Given the description of an element on the screen output the (x, y) to click on. 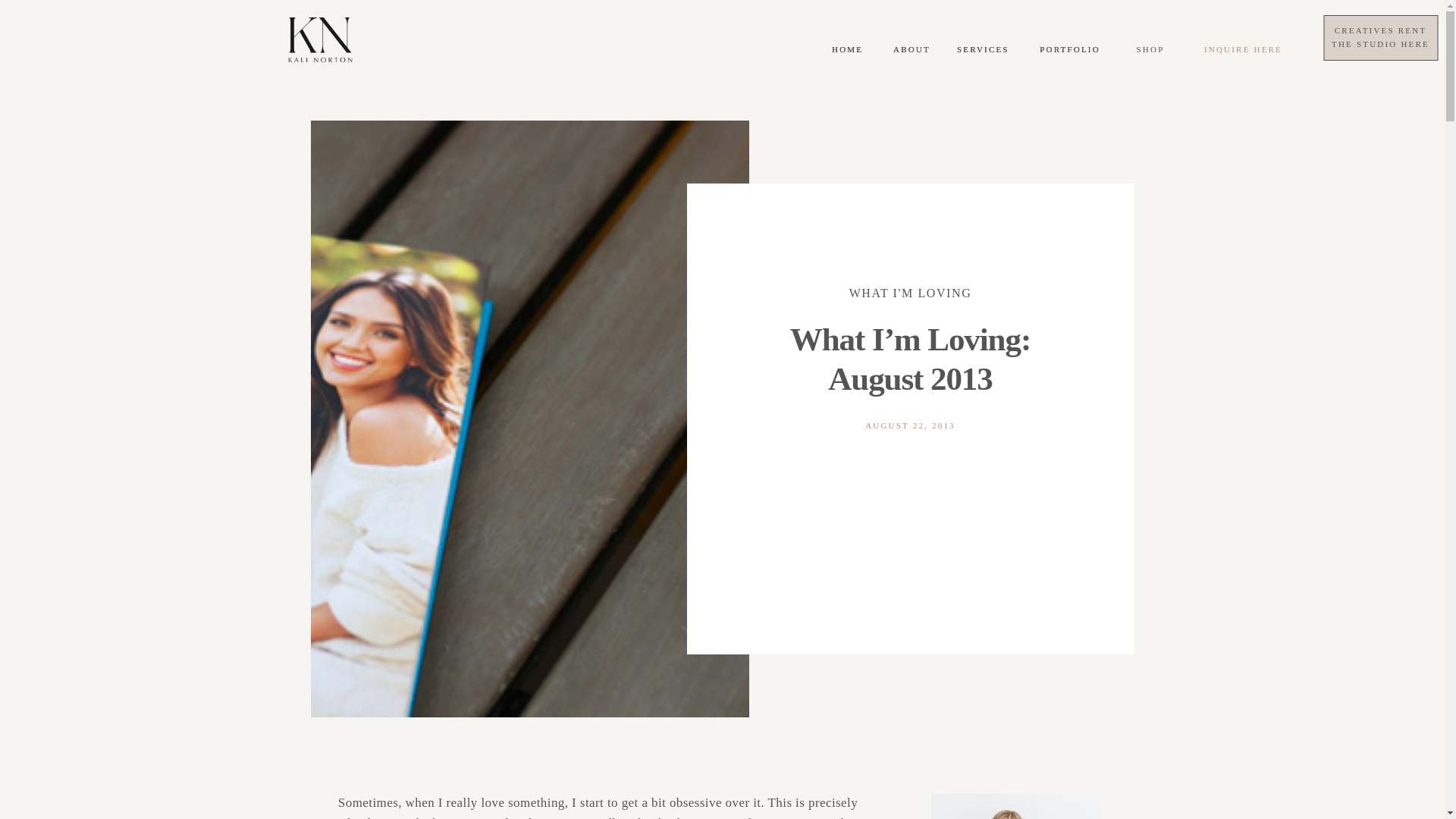
INQUIRE (1380, 41)
PORTFOLIO (1379, 48)
SERVICES (1069, 51)
INQUIRE HERE (982, 51)
SHOP (1242, 49)
ABOUT (1150, 51)
HOME (910, 51)
